Given the description of an element on the screen output the (x, y) to click on. 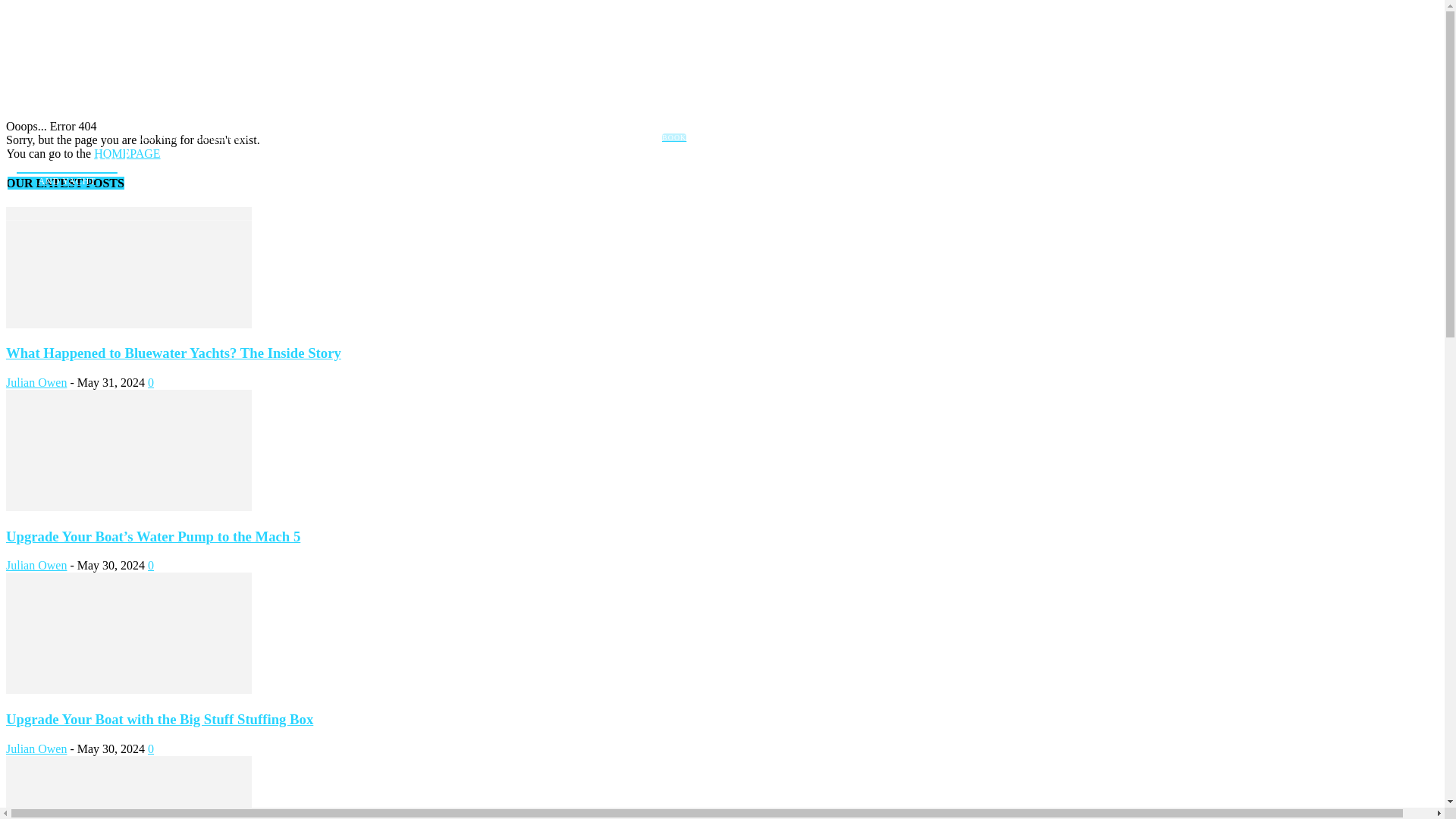
What Happened to Bluewater Yachts? The Inside Story (172, 352)
Yacht World (158, 137)
What Happened to Bluewater Yachts? The Inside Story (128, 323)
Blog (401, 137)
BOOK (673, 137)
SAILING TIPS (486, 166)
LUXURY YACHTS (386, 166)
Youtube (650, 184)
Twitter (625, 184)
Instagram (602, 184)
BLOG (66, 169)
YACHT WORLD (150, 203)
Sailing Tips (173, 166)
Upgrade Your Boat with the Big Stuff Stuffing Box (355, 137)
